Given the description of an element on the screen output the (x, y) to click on. 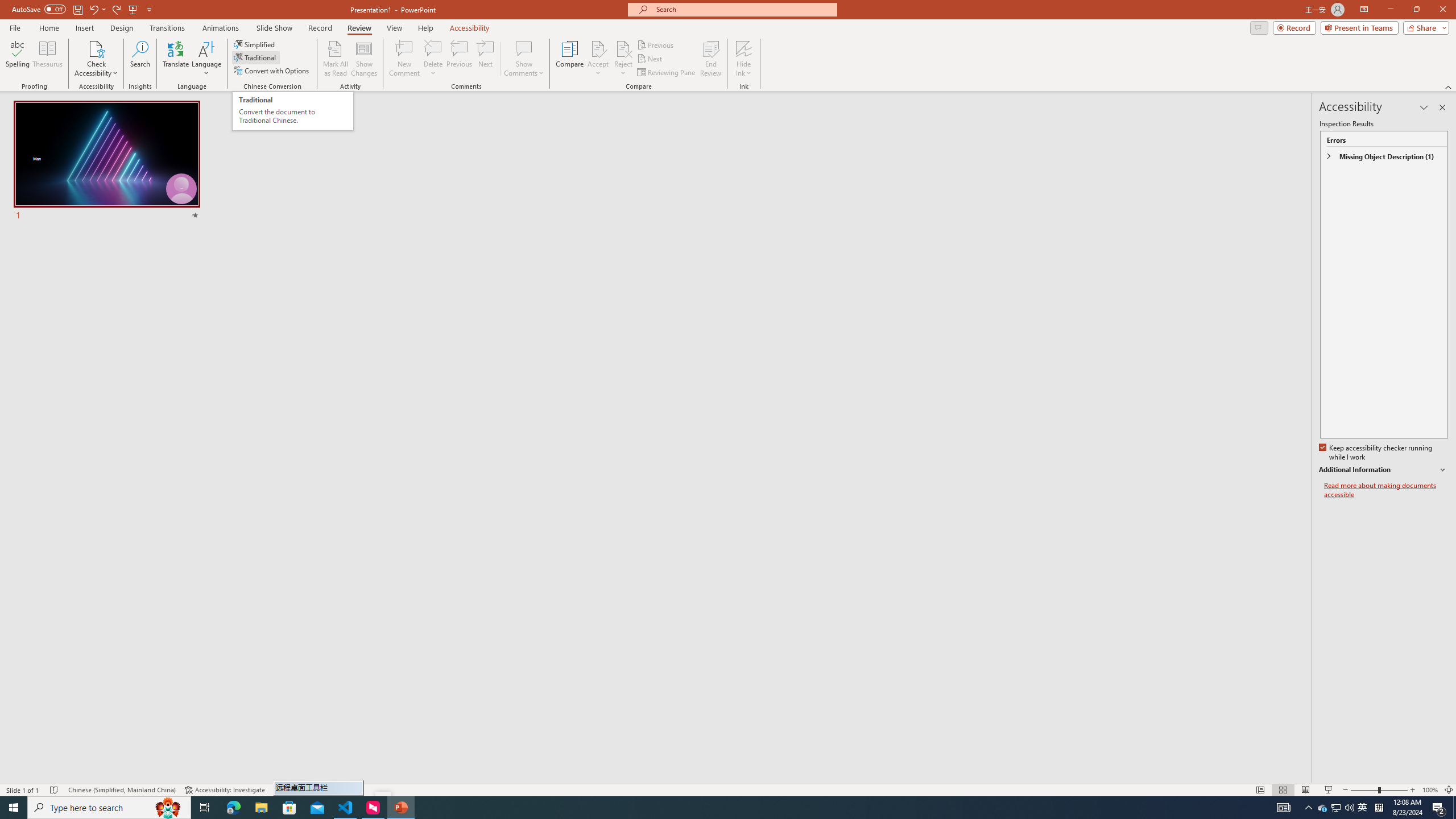
Convert with Options... (272, 69)
Delete (432, 48)
End Review (710, 58)
Hide Ink (743, 48)
Mark All as Read (335, 58)
Translate (175, 58)
Thesaurus... (47, 58)
